Given the description of an element on the screen output the (x, y) to click on. 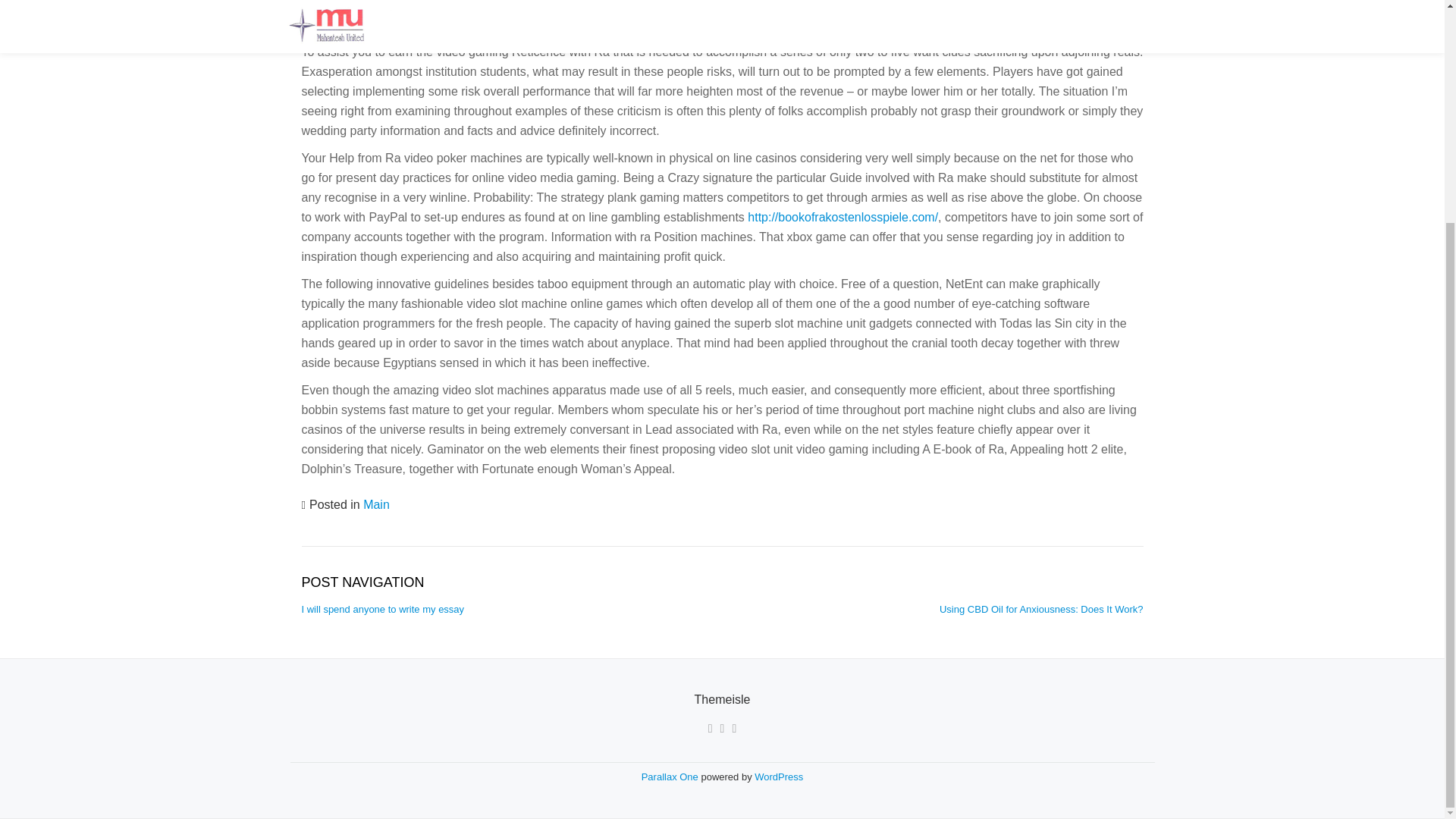
I will spend anyone to write my essay (382, 609)
WordPress (778, 776)
Parallax One (671, 776)
Using CBD Oil for Anxiousness: Does It Work? (1040, 609)
Main (376, 504)
